Given the description of an element on the screen output the (x, y) to click on. 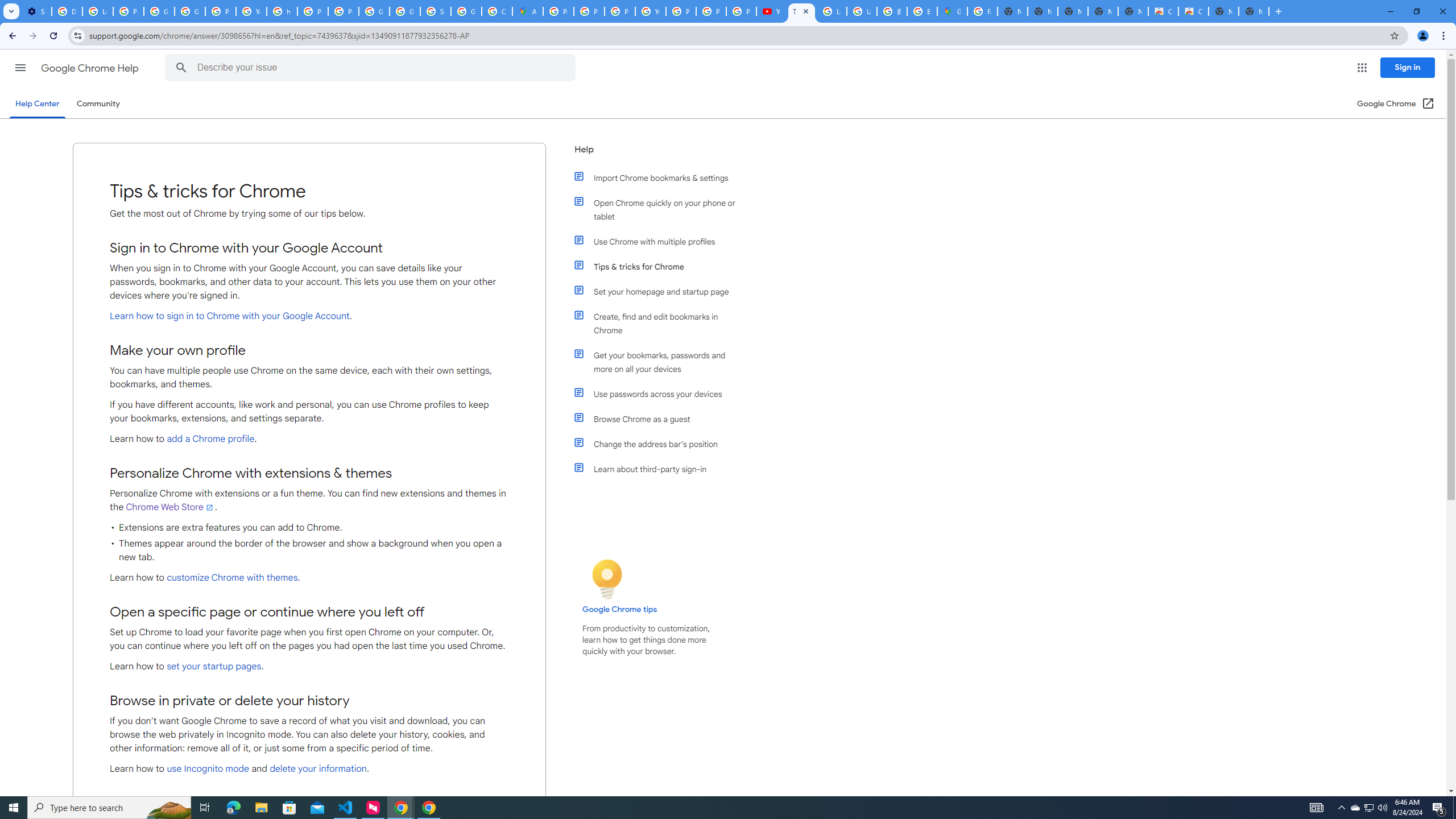
Google Chrome Help (90, 68)
Google Account Help (158, 11)
customize Chrome with themes (231, 577)
Policy Accountability and Transparency - Transparency Center (558, 11)
Use passwords across your devices (661, 394)
Google Chrome (Open in a new window) (1395, 103)
Learn how to sign in to Chrome with your Google Account (229, 315)
